Given the description of an element on the screen output the (x, y) to click on. 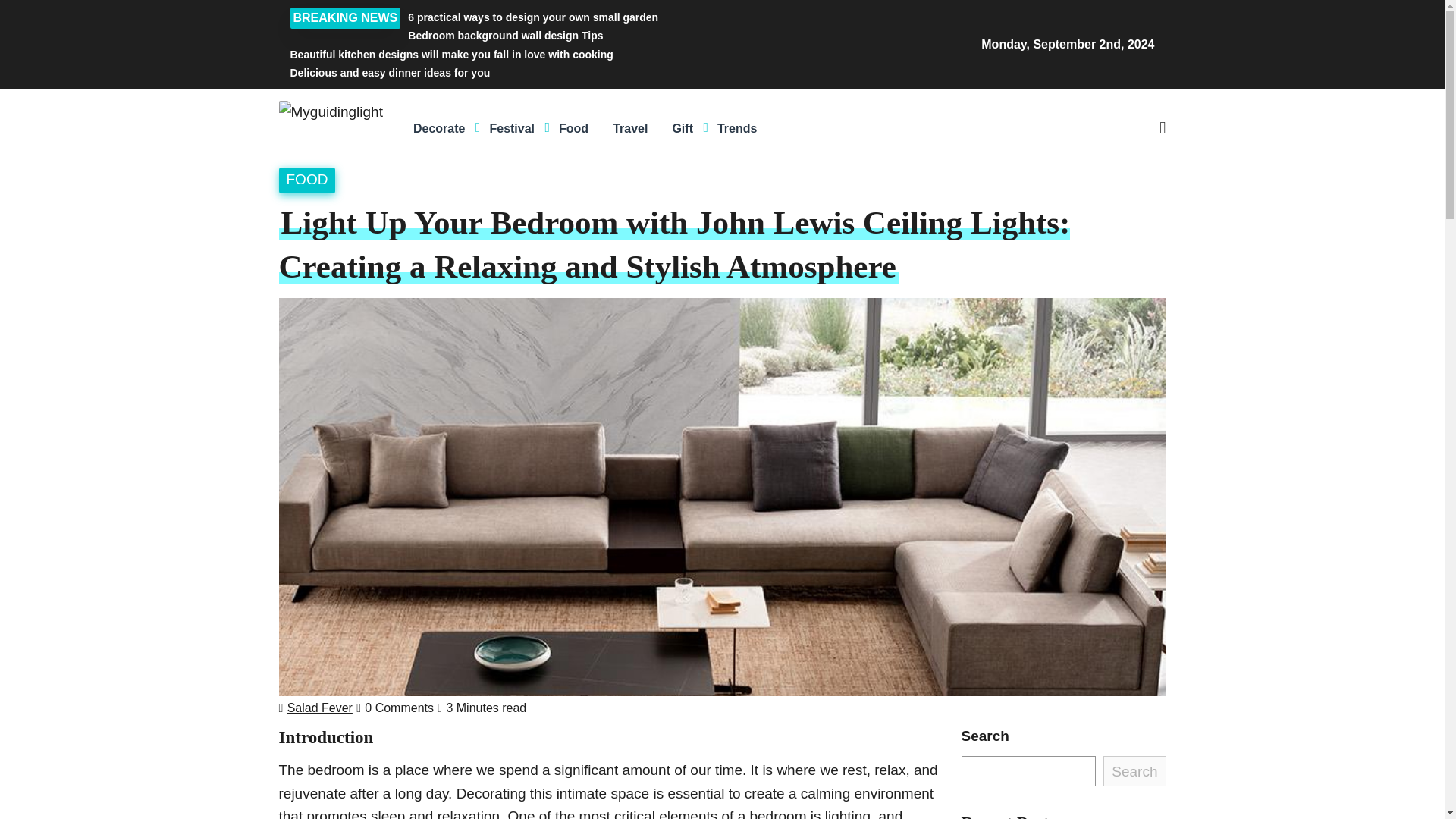
Delicious and easy dinner ideas for you (574, 72)
6 practical ways to design your own small garden (574, 17)
Travel (629, 128)
Festival (512, 128)
Bedroom background wall design Tips (574, 35)
Food (573, 128)
Decorate (439, 128)
